Given the description of an element on the screen output the (x, y) to click on. 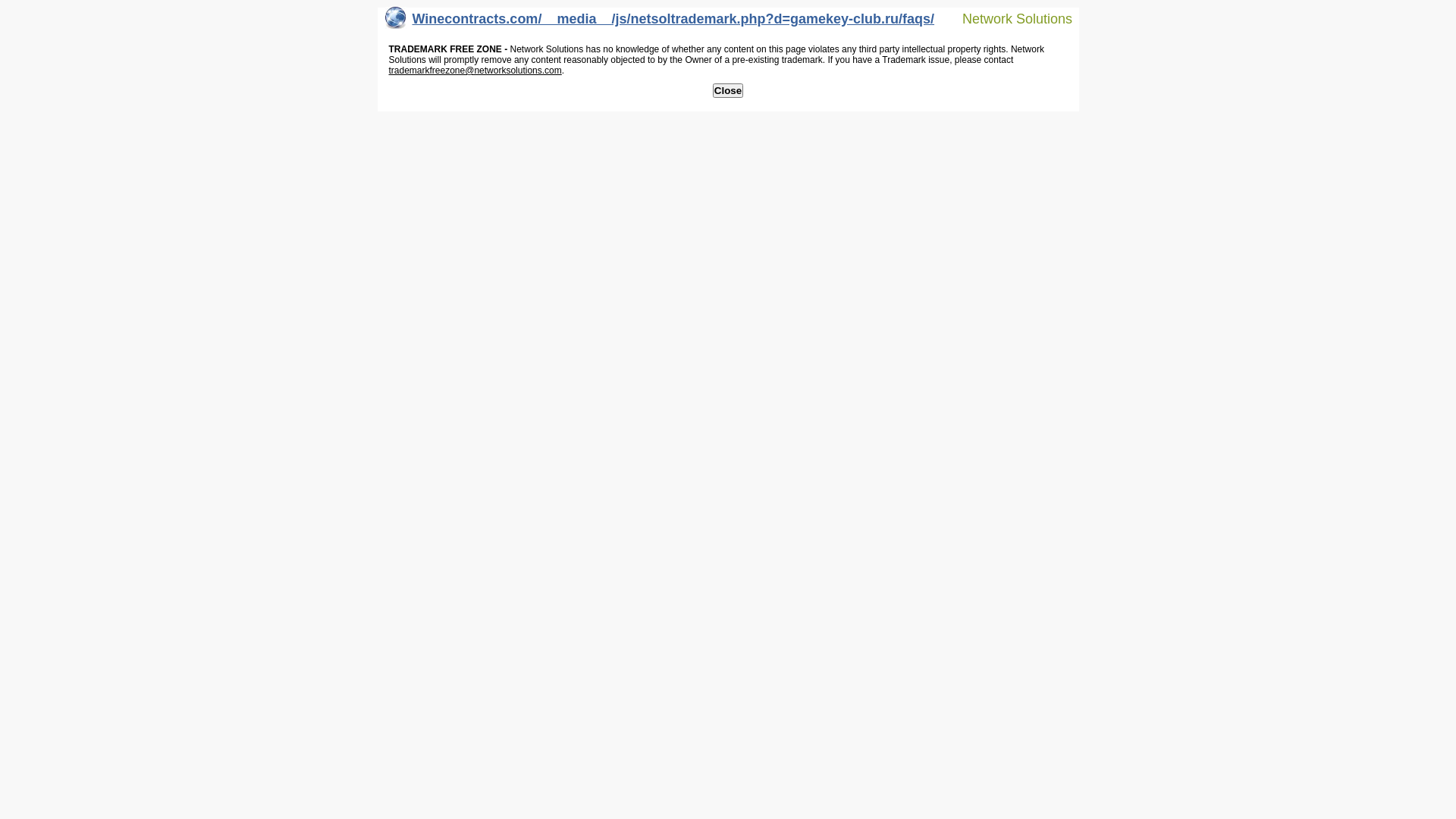
Close Element type: text (727, 90)
trademarkfreezone@networksolutions.com Element type: text (474, 70)
Network Solutions Element type: text (1007, 17)
